Given the description of an element on the screen output the (x, y) to click on. 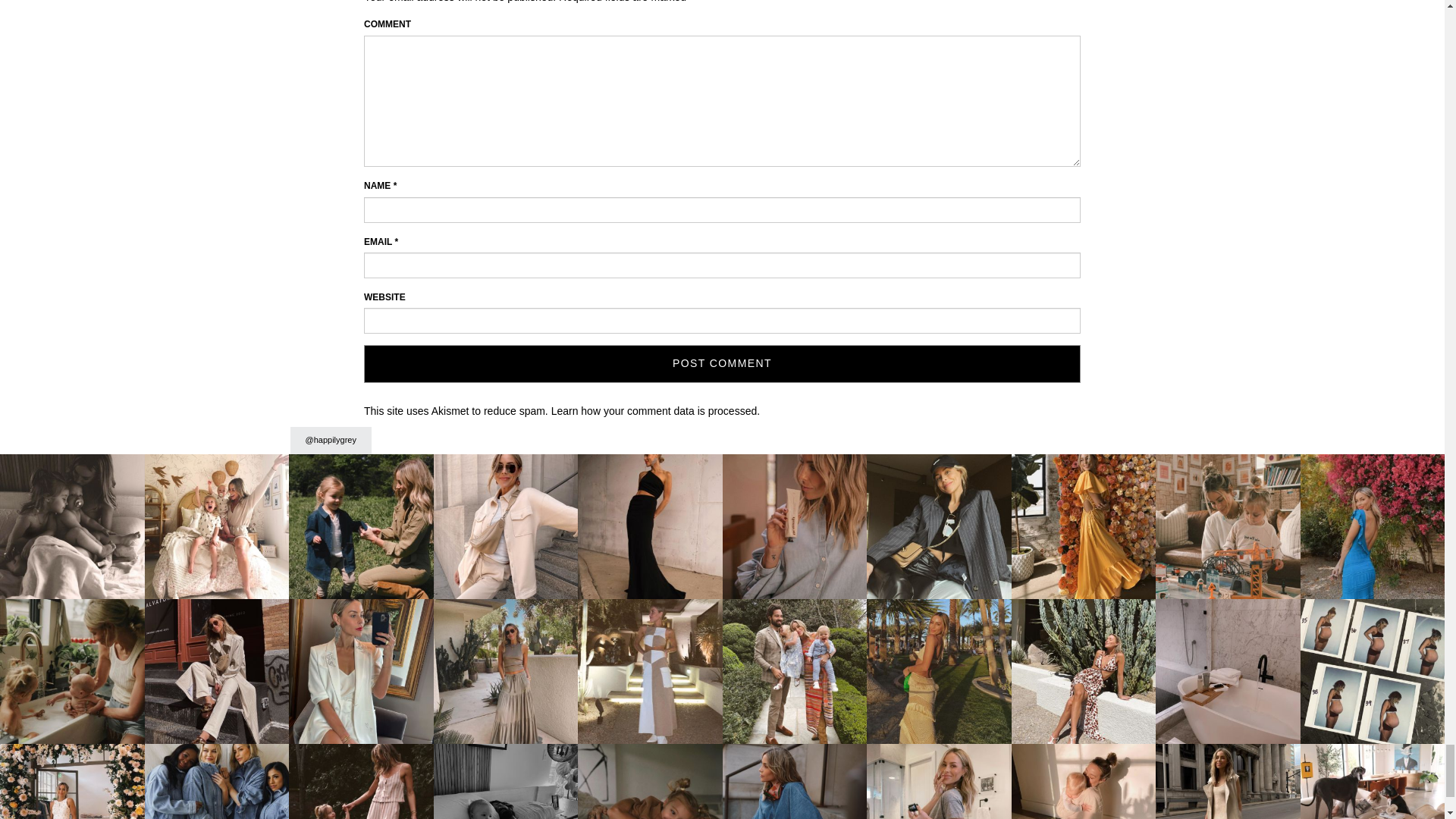
Post Comment (722, 363)
